Given the description of an element on the screen output the (x, y) to click on. 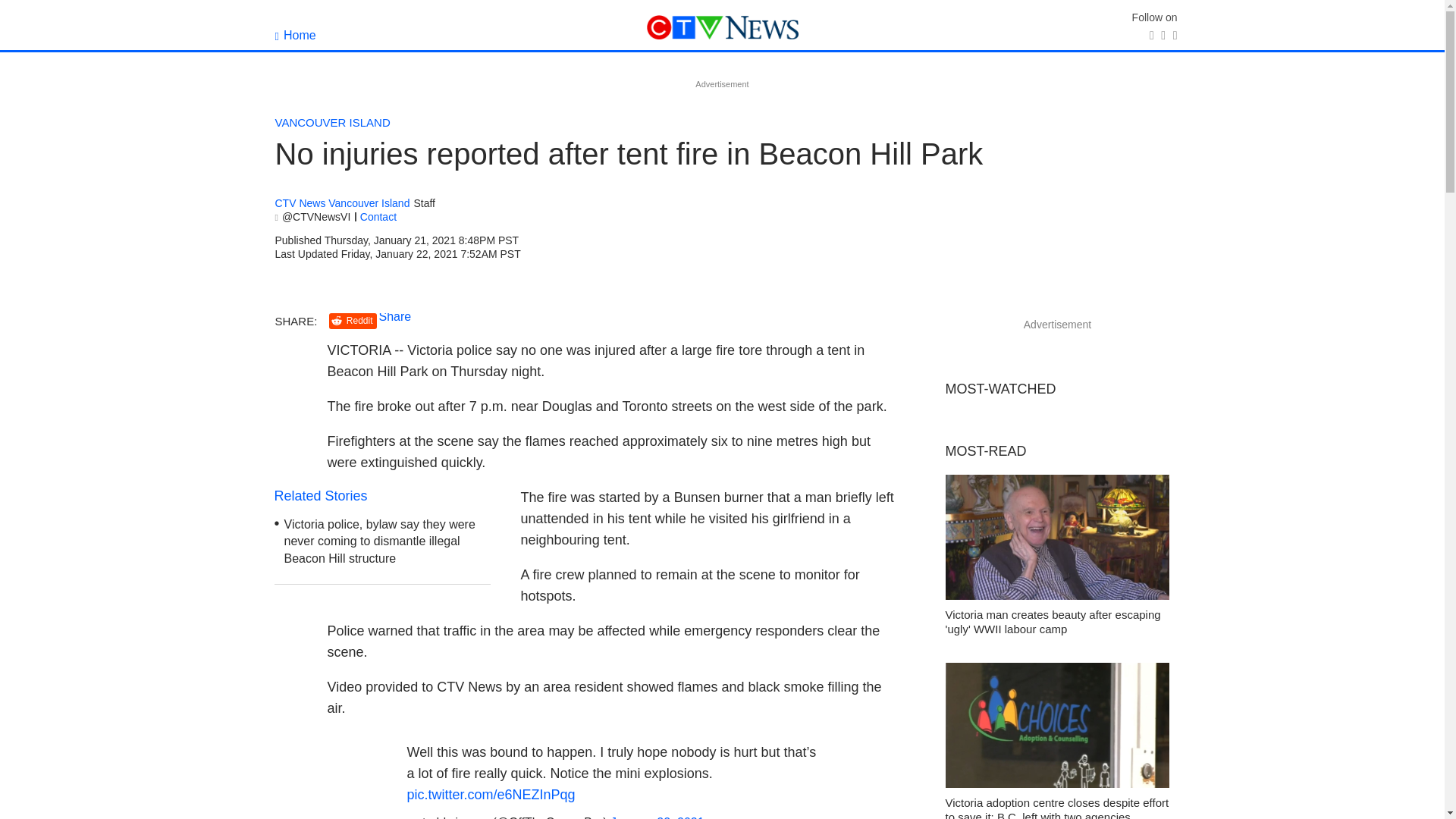
Reddit (353, 320)
January 22, 2021 (657, 817)
Home (295, 34)
VANCOUVER ISLAND (332, 122)
CTV News Vancouver Island (342, 203)
Share (395, 316)
Contact (377, 216)
